Given the description of an element on the screen output the (x, y) to click on. 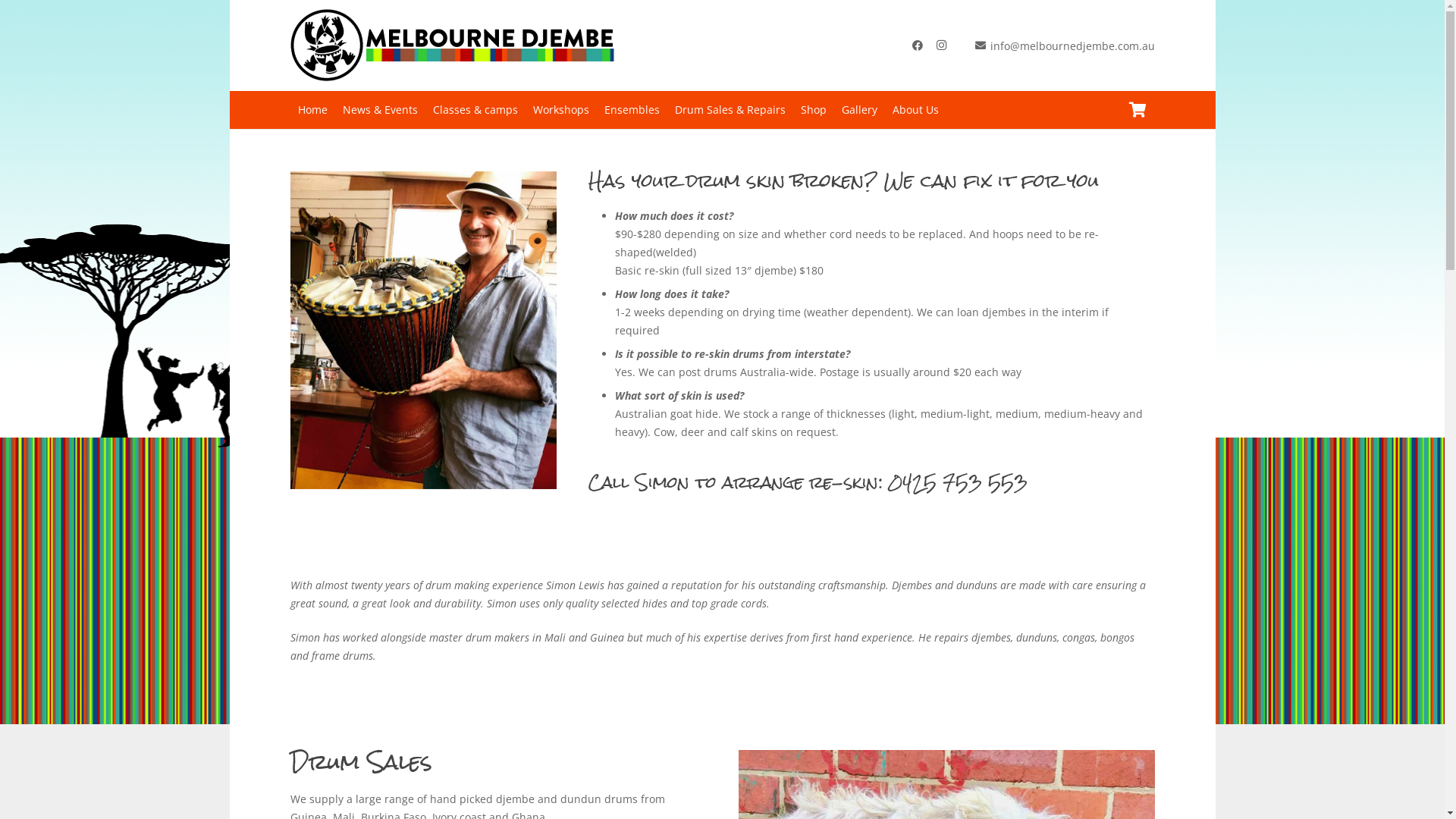
0 Element type: text (1137, 109)
Drum Sales & Repairs Element type: text (730, 109)
Shop Element type: text (813, 109)
Ensembles Element type: text (631, 109)
info@melbournedjembe.com.au Element type: text (1064, 44)
Facebook Element type: hover (917, 45)
News & Events Element type: text (380, 109)
Workshops Element type: text (560, 109)
Classes & camps Element type: text (474, 109)
Gallery Element type: text (859, 109)
Instagram Element type: hover (941, 45)
About Us Element type: text (914, 109)
Home Element type: text (311, 109)
